Given the description of an element on the screen output the (x, y) to click on. 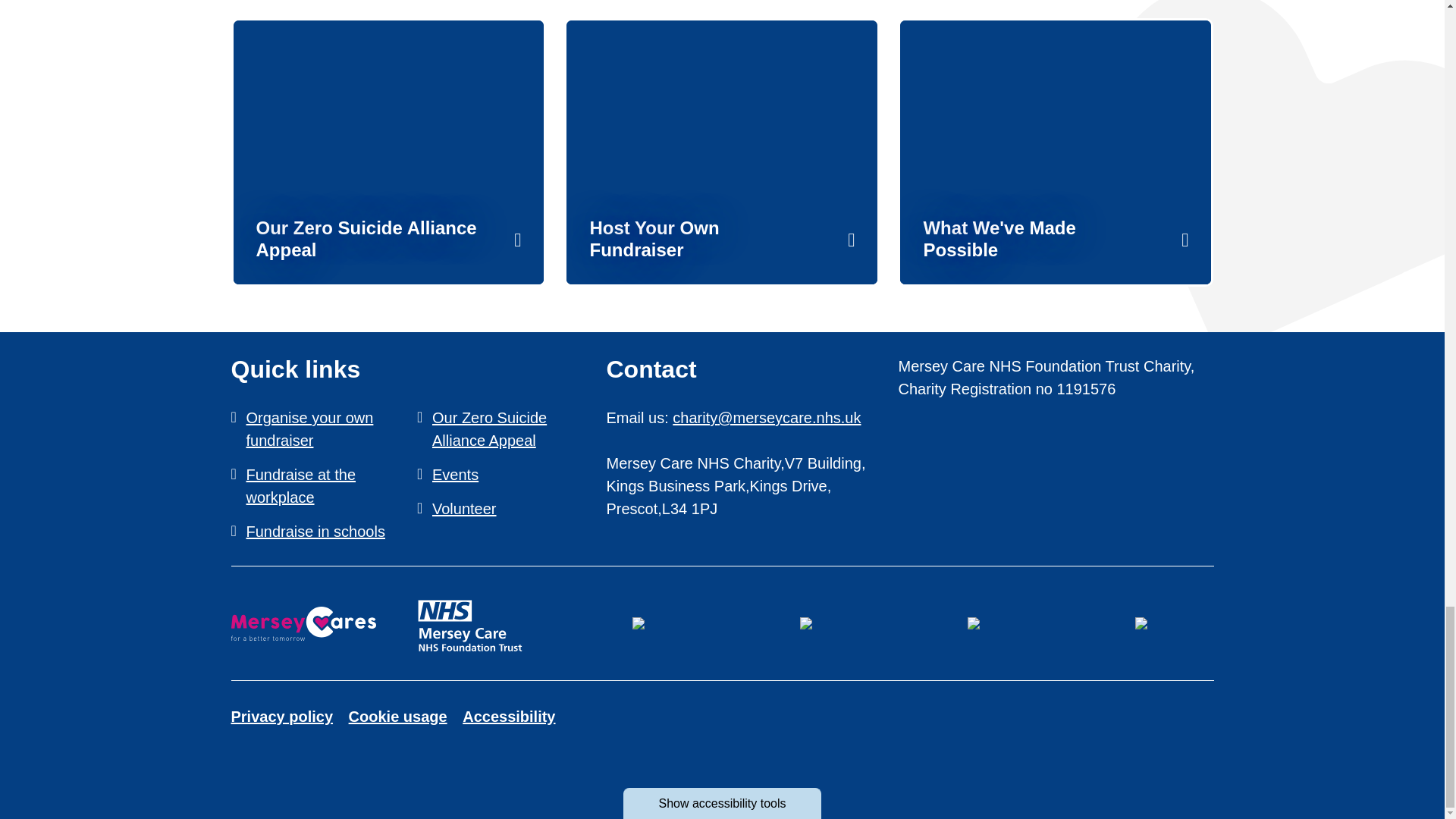
The Life Rooms (805, 623)
Fundraising Regulator Logo (638, 623)
What we've made possible (1055, 152)
Chartered Institute of Fundraising Organisational Member (1141, 623)
Host your own fundraiser (721, 152)
Zero Suicide Alliance (973, 623)
Mersey Care NHS Foundation Trust (470, 622)
Mersey Cares: for a better tomorrow (302, 623)
Our Zero Suicide Alliance appeal (388, 152)
